Given the description of an element on the screen output the (x, y) to click on. 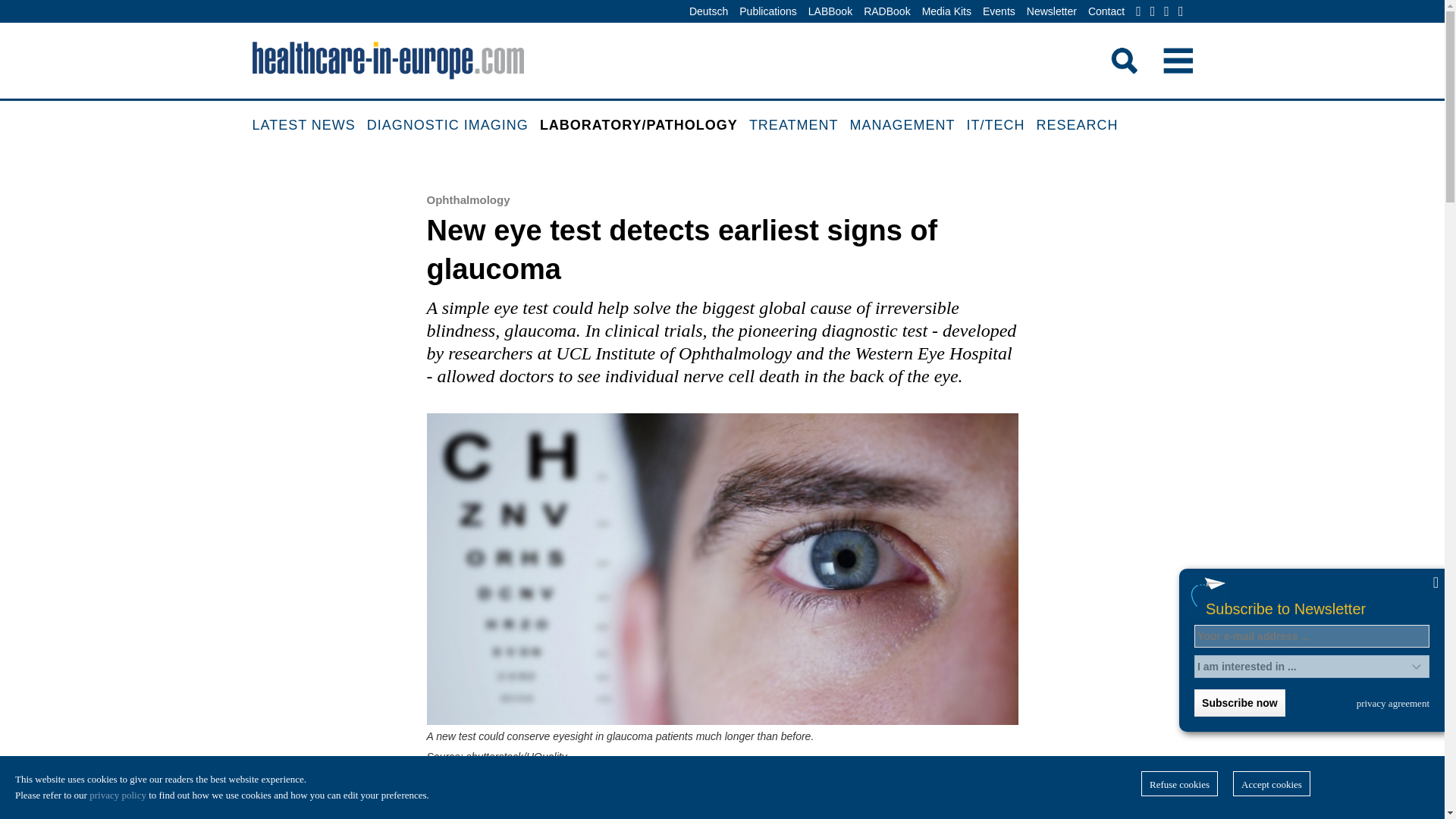
Events (998, 12)
LABBook (830, 12)
LATEST NEWS (308, 126)
RESEARCH (1082, 126)
Deutsch (708, 12)
DIAGNOSTIC IMAGING (453, 126)
RADBook (887, 12)
TREATMENT (799, 126)
Contact (1106, 12)
Newsletter (1051, 12)
Publications (767, 12)
MANAGEMENT (908, 126)
Media Kits (946, 12)
privacy agreement (1392, 703)
